Given the description of an element on the screen output the (x, y) to click on. 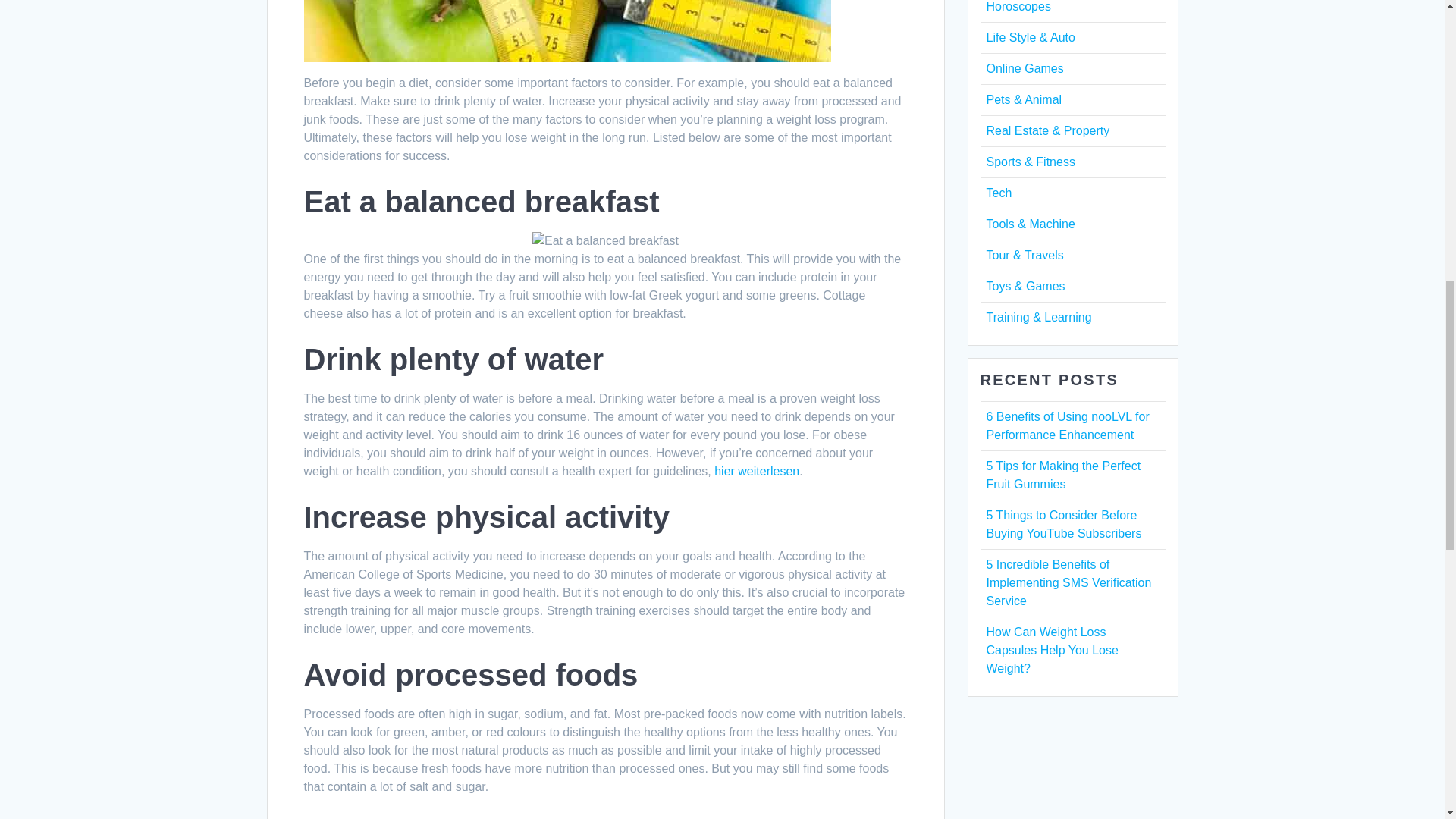
hier weiterlesen (756, 471)
Horoscopes (1017, 6)
Online Games (1023, 68)
